Given the description of an element on the screen output the (x, y) to click on. 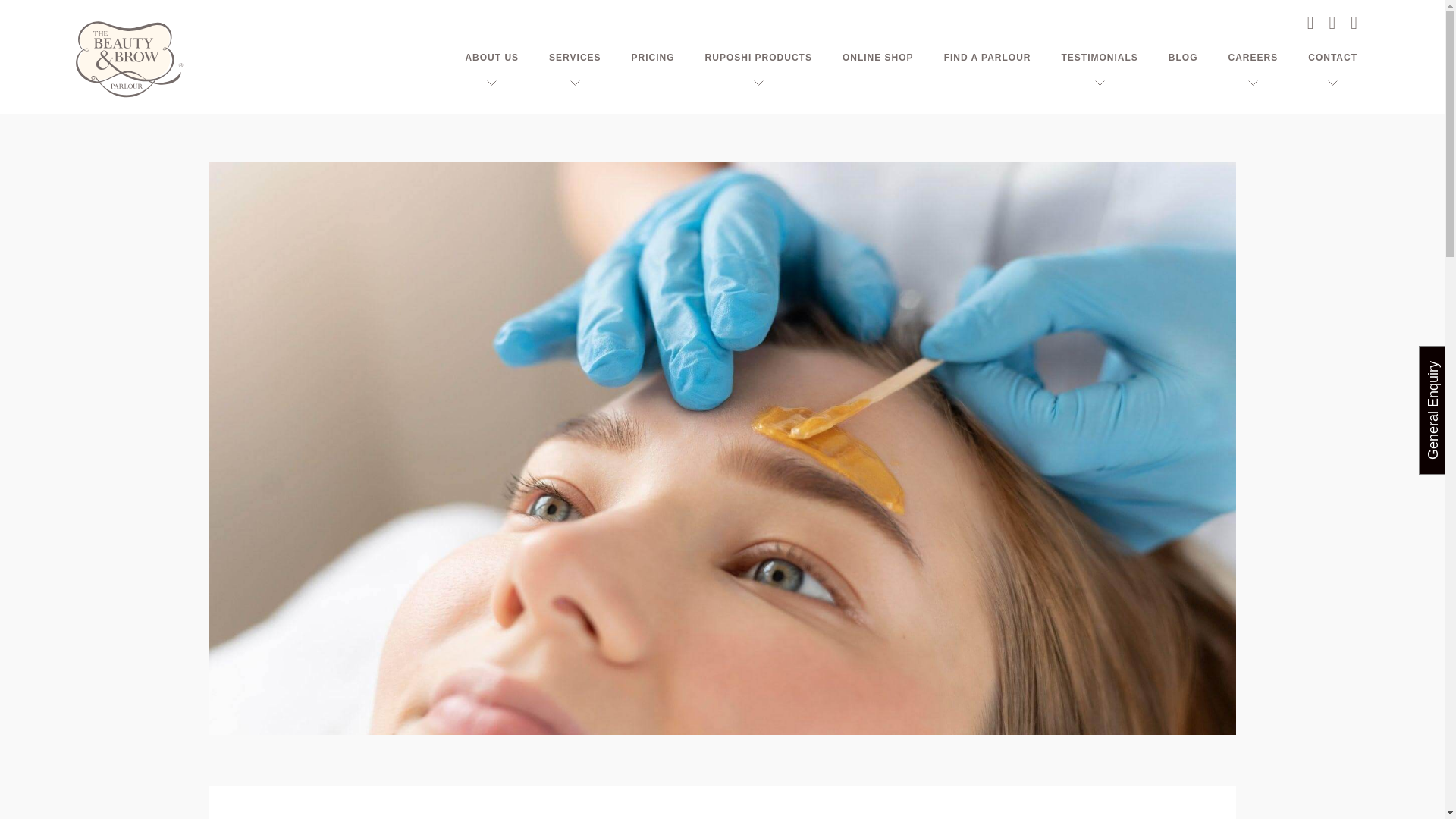
FIND A PARLOUR (986, 57)
PRICING (653, 57)
RUPOSHI PRODUCTS (758, 57)
ABOUT US (491, 57)
CAREERS (1253, 57)
BLOG (1183, 57)
CONTACT (1331, 57)
SERVICES (573, 57)
ONLINE SHOP (878, 57)
TESTIMONIALS (1099, 57)
